Given the description of an element on the screen output the (x, y) to click on. 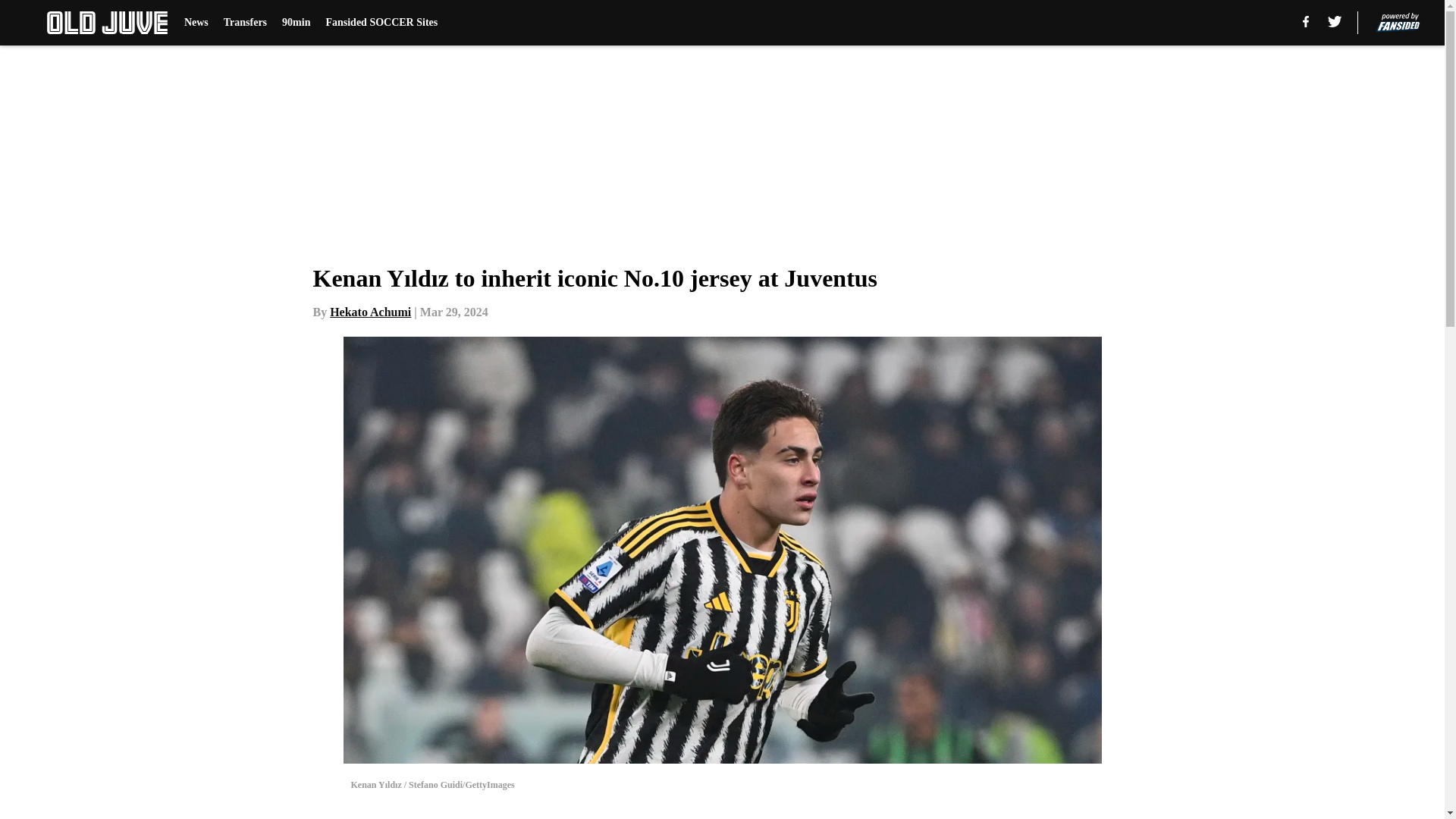
Hekato Achumi (370, 311)
Fansided SOCCER Sites (381, 22)
News (196, 22)
Transfers (245, 22)
90min (296, 22)
